Given the description of an element on the screen output the (x, y) to click on. 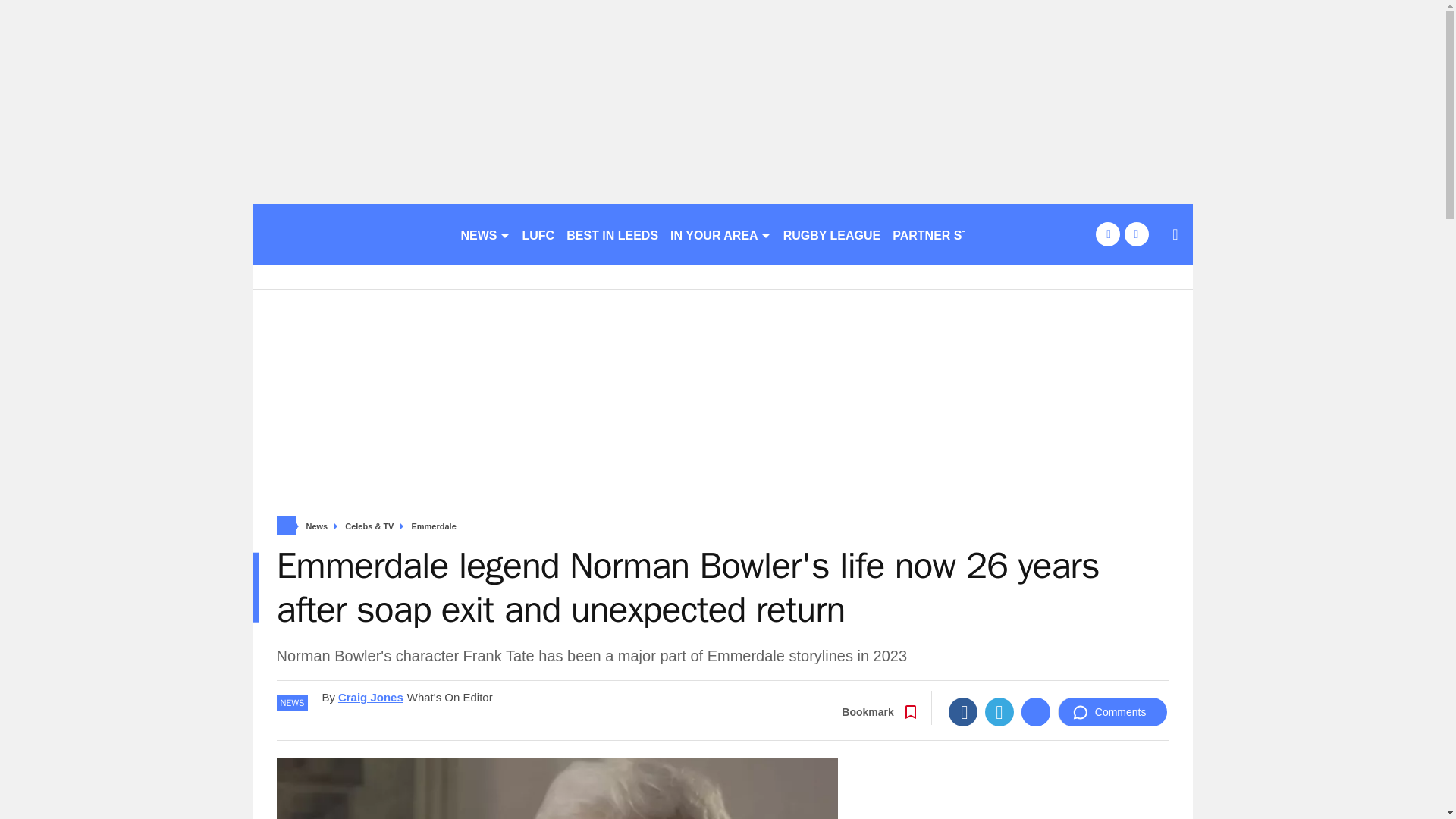
PARTNER STORIES (949, 233)
Twitter (999, 711)
RUGBY LEAGUE (831, 233)
facebook (1106, 233)
leedslive (348, 233)
Comments (1112, 711)
twitter (1136, 233)
IN YOUR AREA (720, 233)
BEST IN LEEDS (611, 233)
Facebook (962, 711)
